Given the description of an element on the screen output the (x, y) to click on. 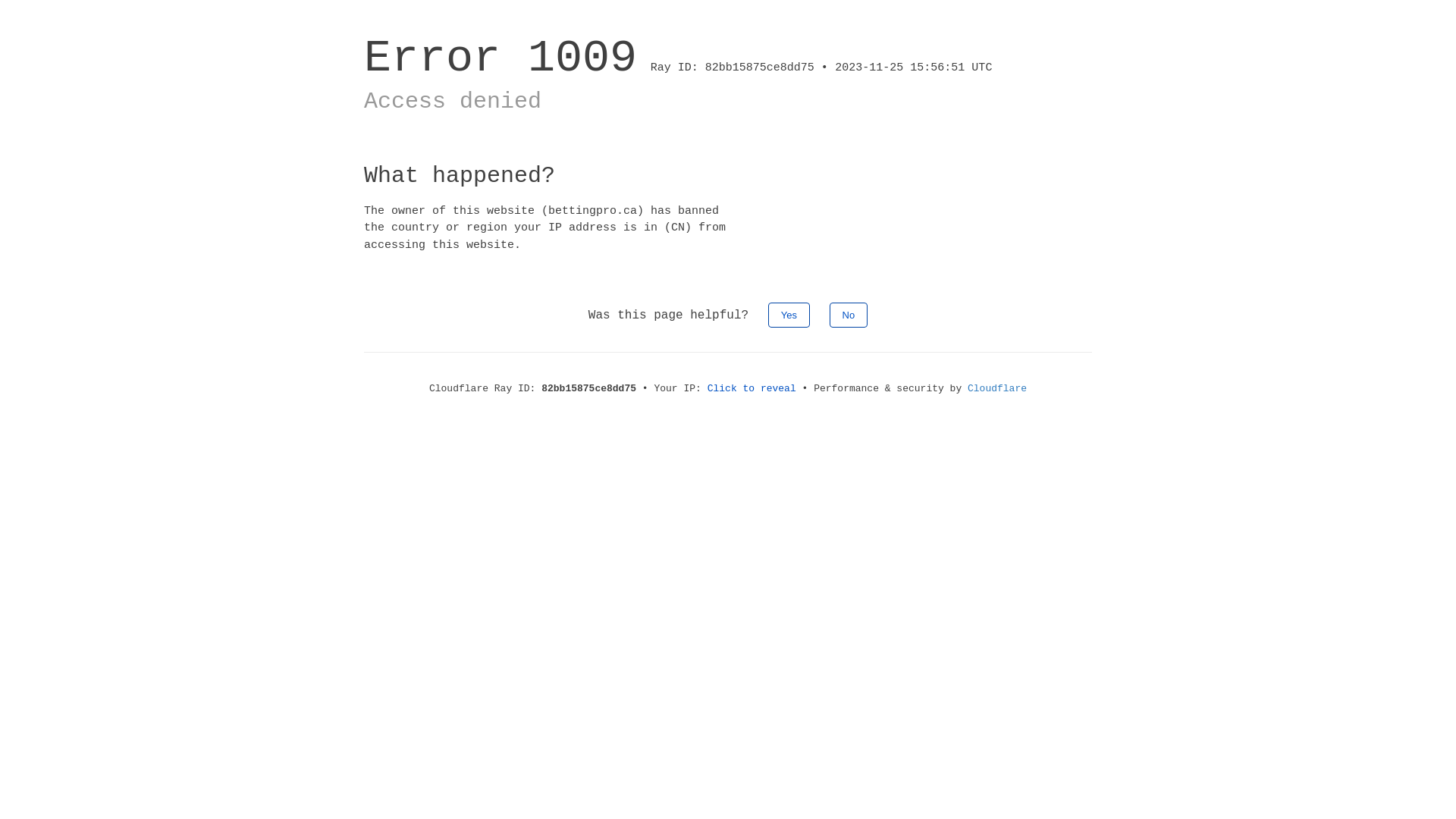
No Element type: text (848, 314)
Yes Element type: text (788, 314)
Click to reveal Element type: text (751, 388)
Cloudflare Element type: text (996, 388)
